Given the description of an element on the screen output the (x, y) to click on. 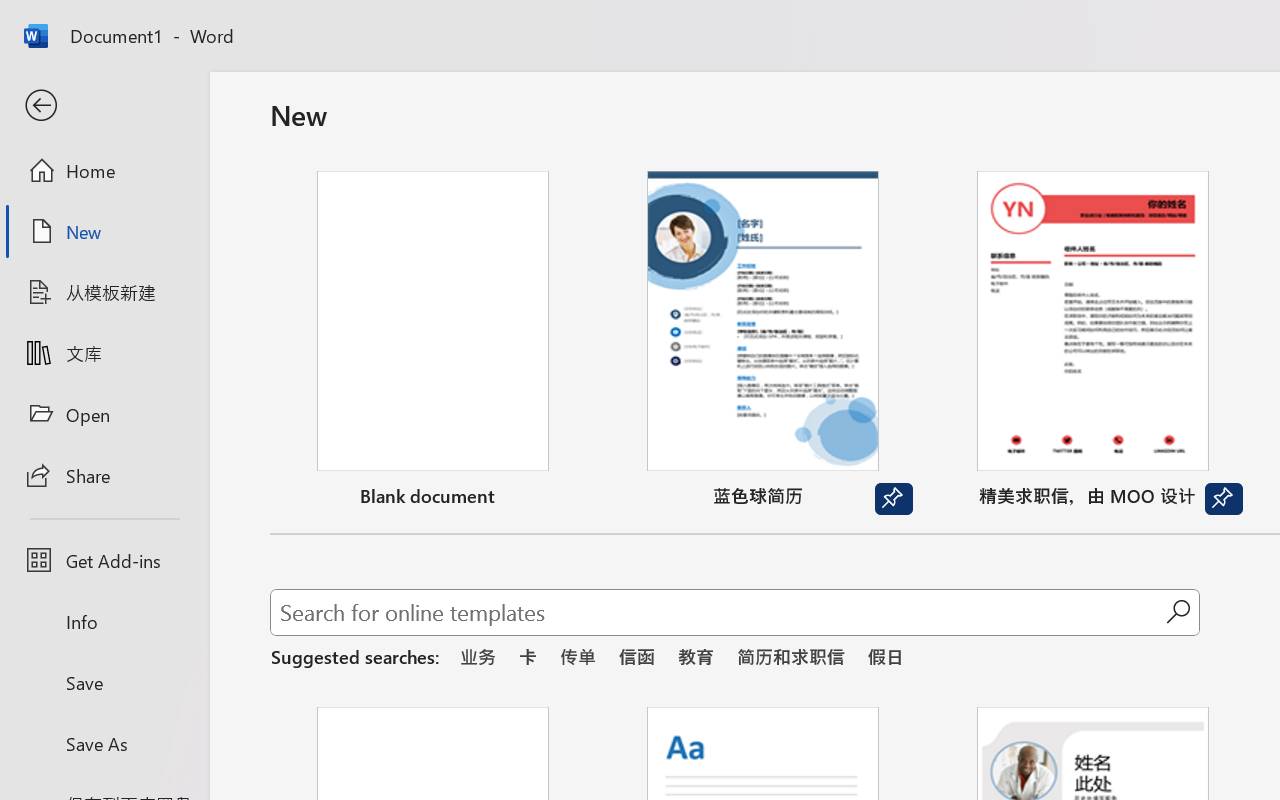
Unpin from list (1223, 499)
Start searching (1178, 612)
New (104, 231)
Info (104, 621)
Search for online templates (718, 615)
Back (104, 106)
